Given the description of an element on the screen output the (x, y) to click on. 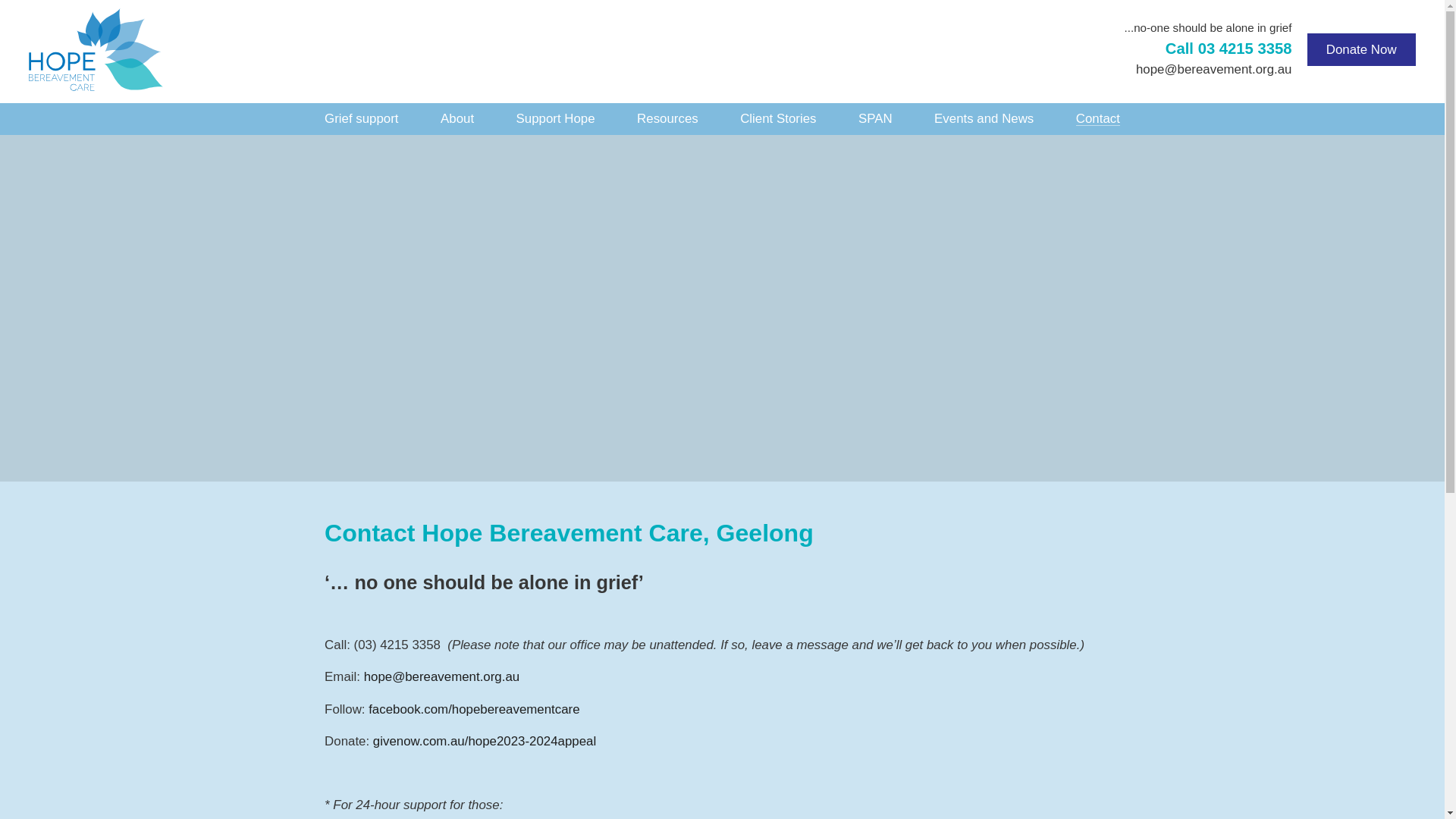
Donate Now Element type: text (1361, 49)
Contact Element type: hover (722, 307)
Client Stories Element type: text (777, 118)
Events and News Element type: text (983, 118)
03 4215 3358 Element type: text (1228, 48)
hope@bereavement.org.au Element type: text (1213, 69)
Support Hope Element type: text (555, 118)
Resources Element type: text (667, 118)
hope@bereavement.org.au Element type: text (442, 676)
About Element type: text (456, 118)
facebook.com/hopebereavementcare Element type: text (473, 709)
givenow.com.au/hope2023-2024appeal Element type: text (484, 741)
Contact Element type: text (1098, 118)
SPAN Element type: text (875, 118)
Grief support Element type: text (361, 118)
